Given the description of an element on the screen output the (x, y) to click on. 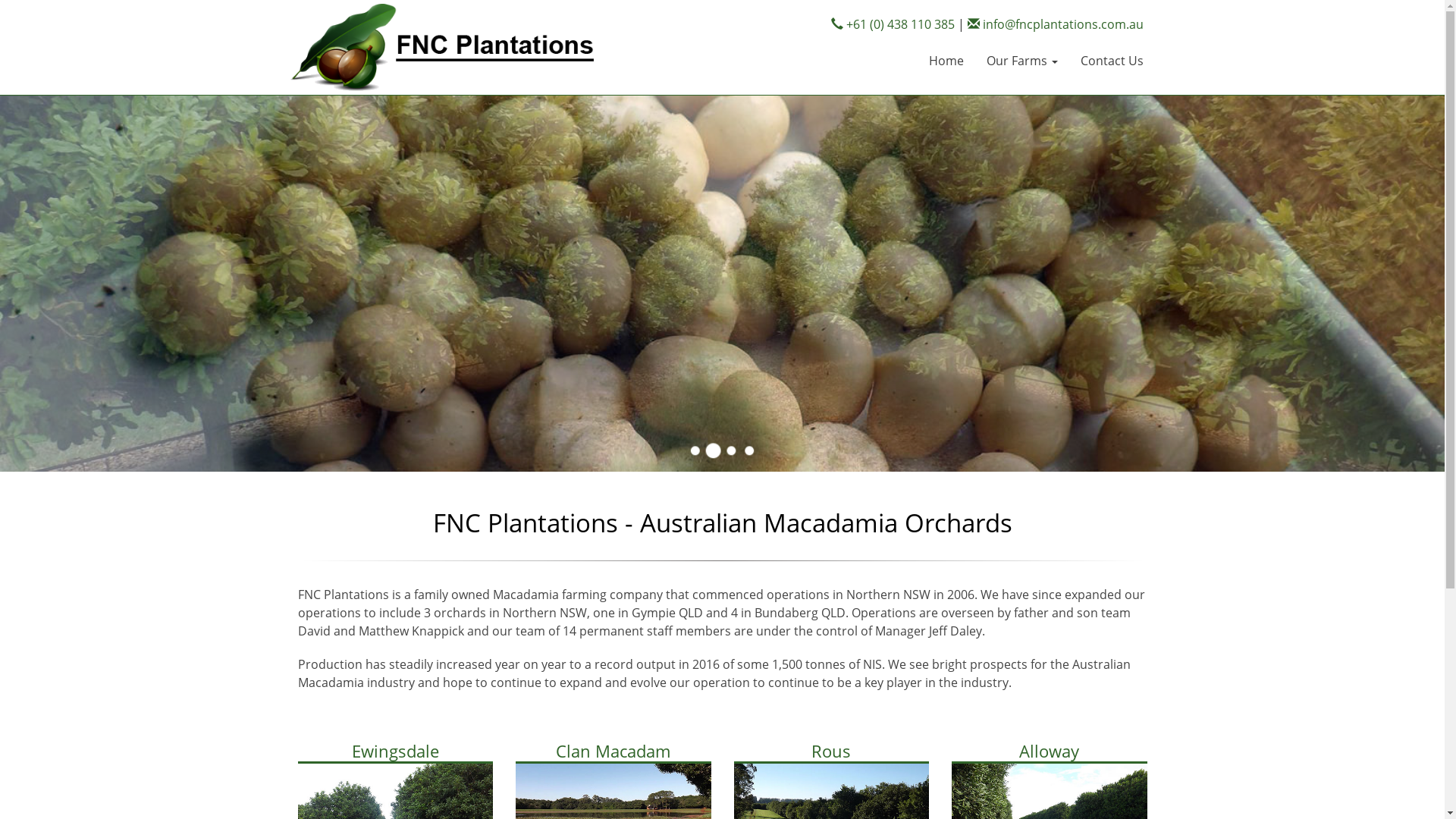
Contact Us Element type: text (1111, 60)
Home Element type: text (946, 60)
 info@fncplantations.com.au Element type: text (1055, 23)
 +61 (0) 438 110 385 Element type: text (892, 23)
FNC Plantations Element type: hover (441, 46)
Our Farms Element type: text (1022, 60)
